Given the description of an element on the screen output the (x, y) to click on. 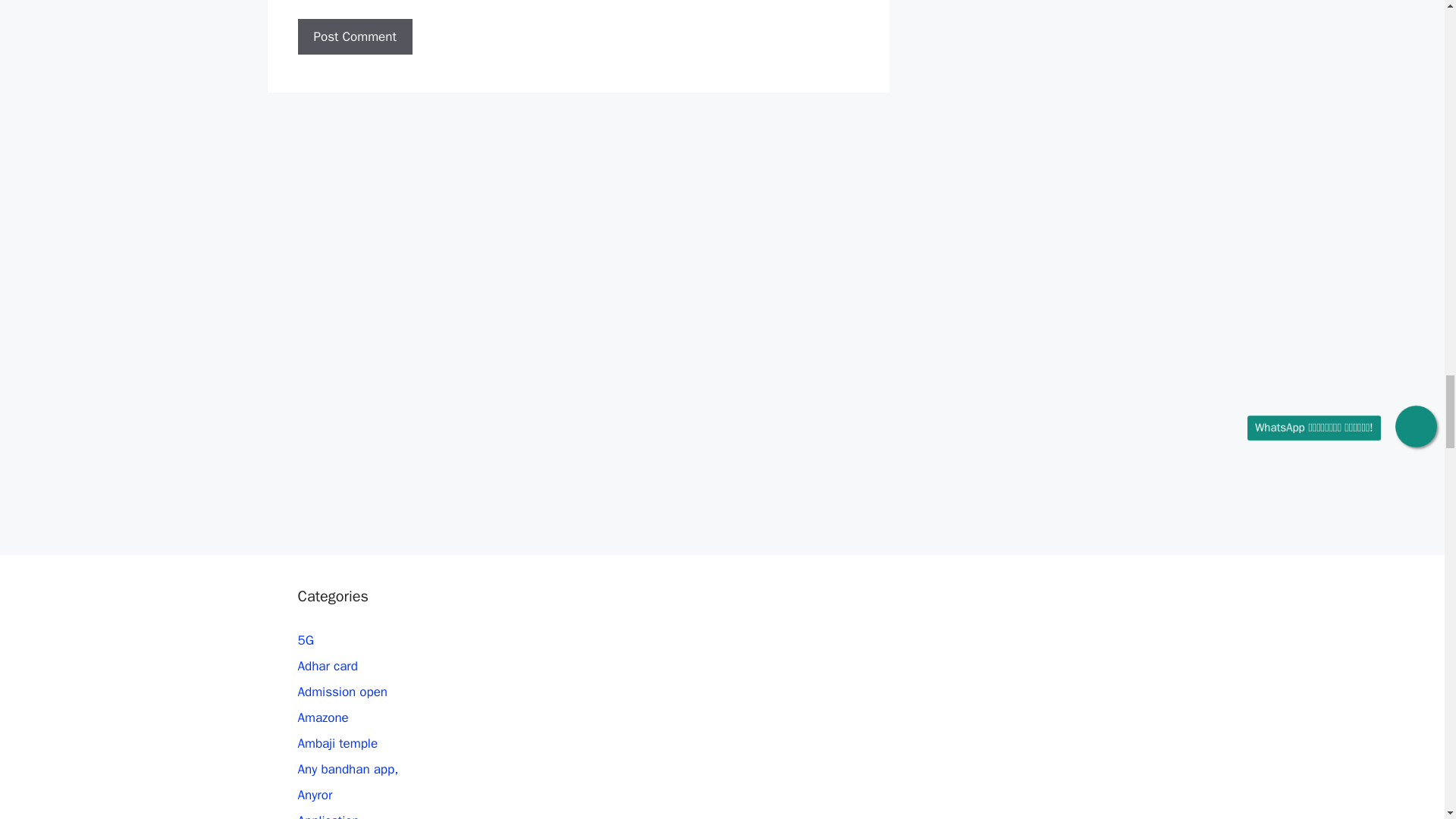
Admission open (342, 691)
Adhar card (326, 666)
Ambaji temple (337, 743)
Post Comment (354, 36)
Post Comment (354, 36)
Amazone (322, 717)
5G (305, 640)
